Given the description of an element on the screen output the (x, y) to click on. 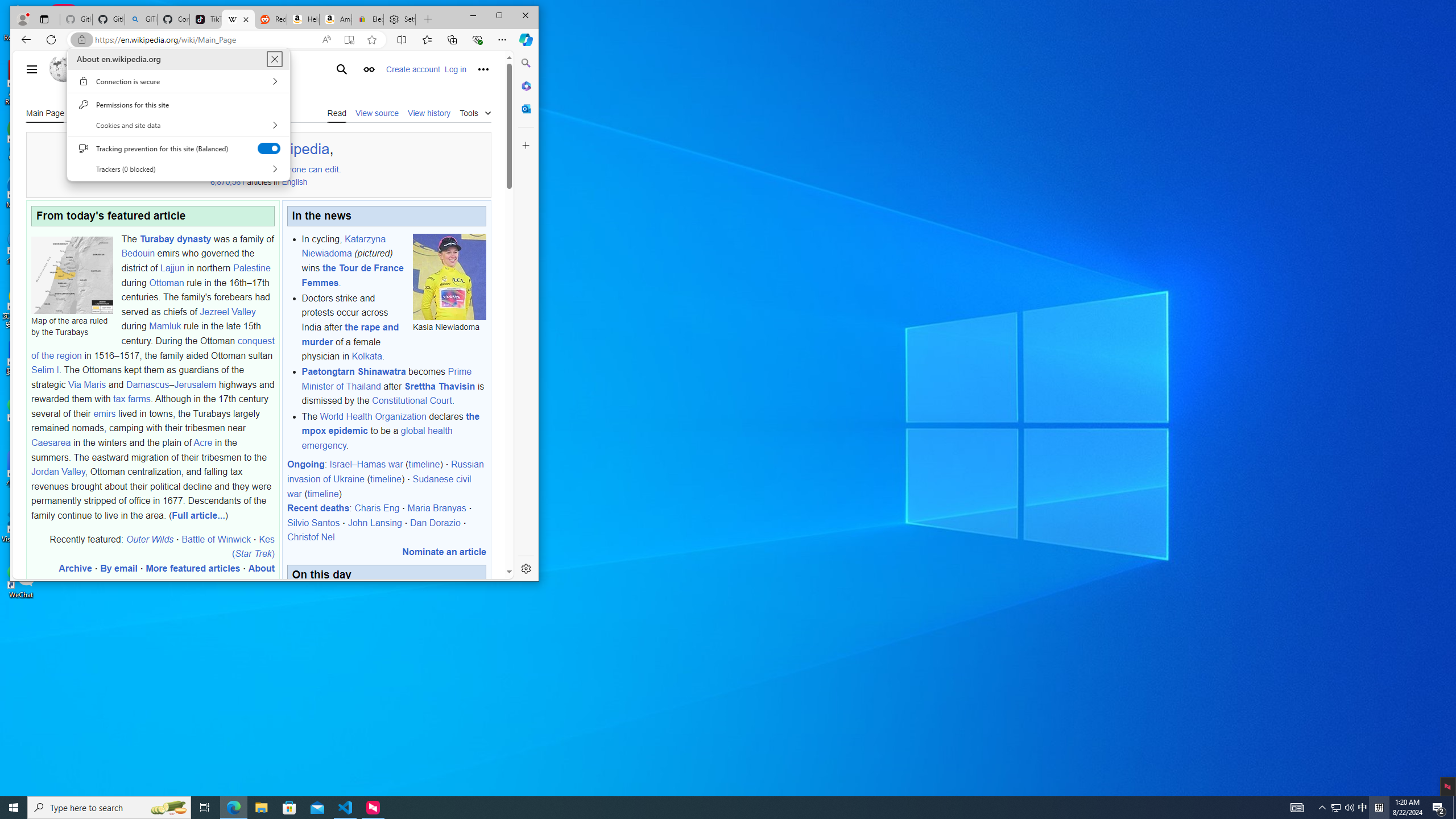
conquest of the region (152, 347)
